Given the description of an element on the screen output the (x, y) to click on. 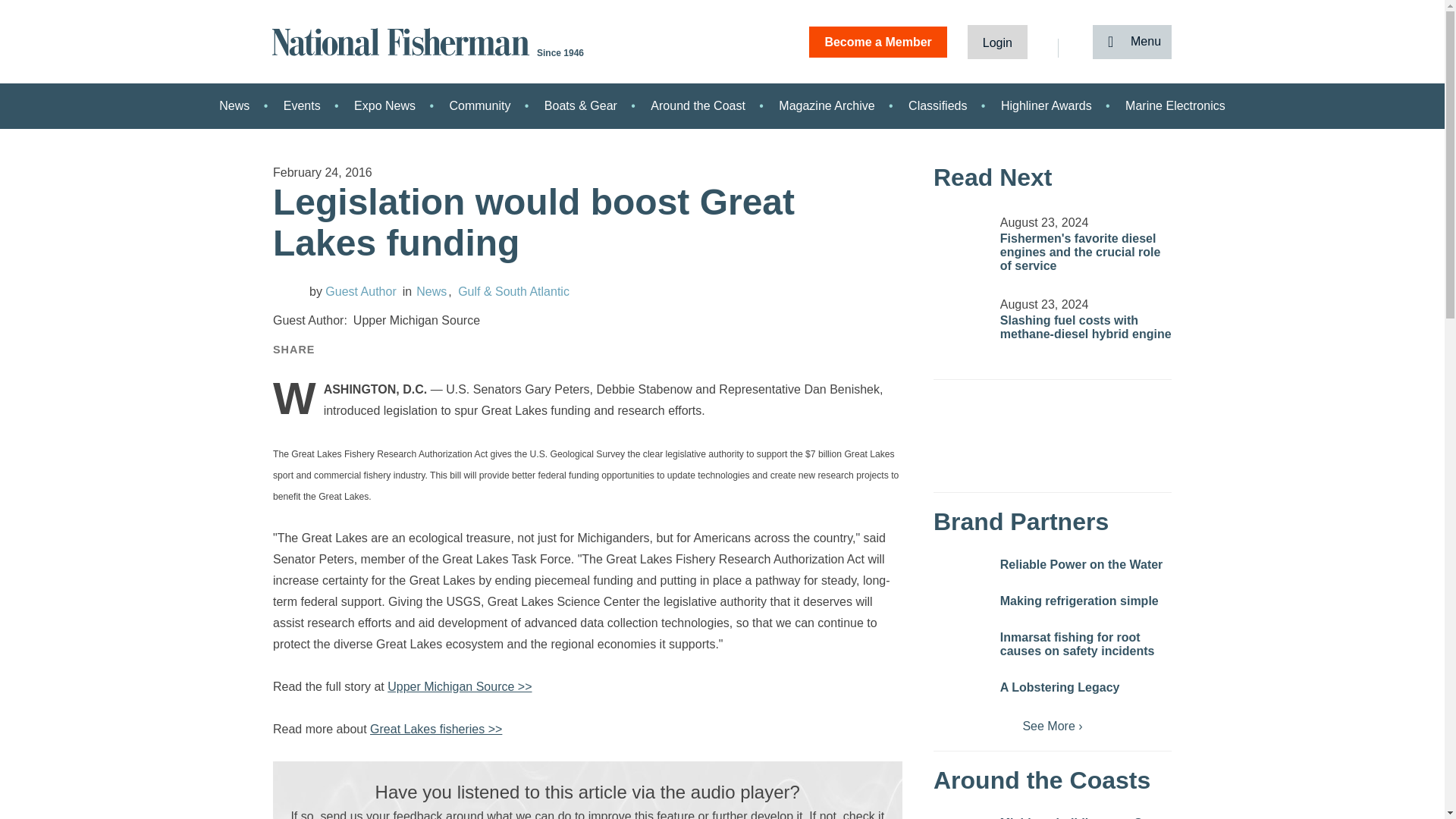
Become a Member (877, 41)
National Fisherman (403, 40)
Login (997, 41)
Guest Author (287, 291)
Guest Author (352, 291)
